Given the description of an element on the screen output the (x, y) to click on. 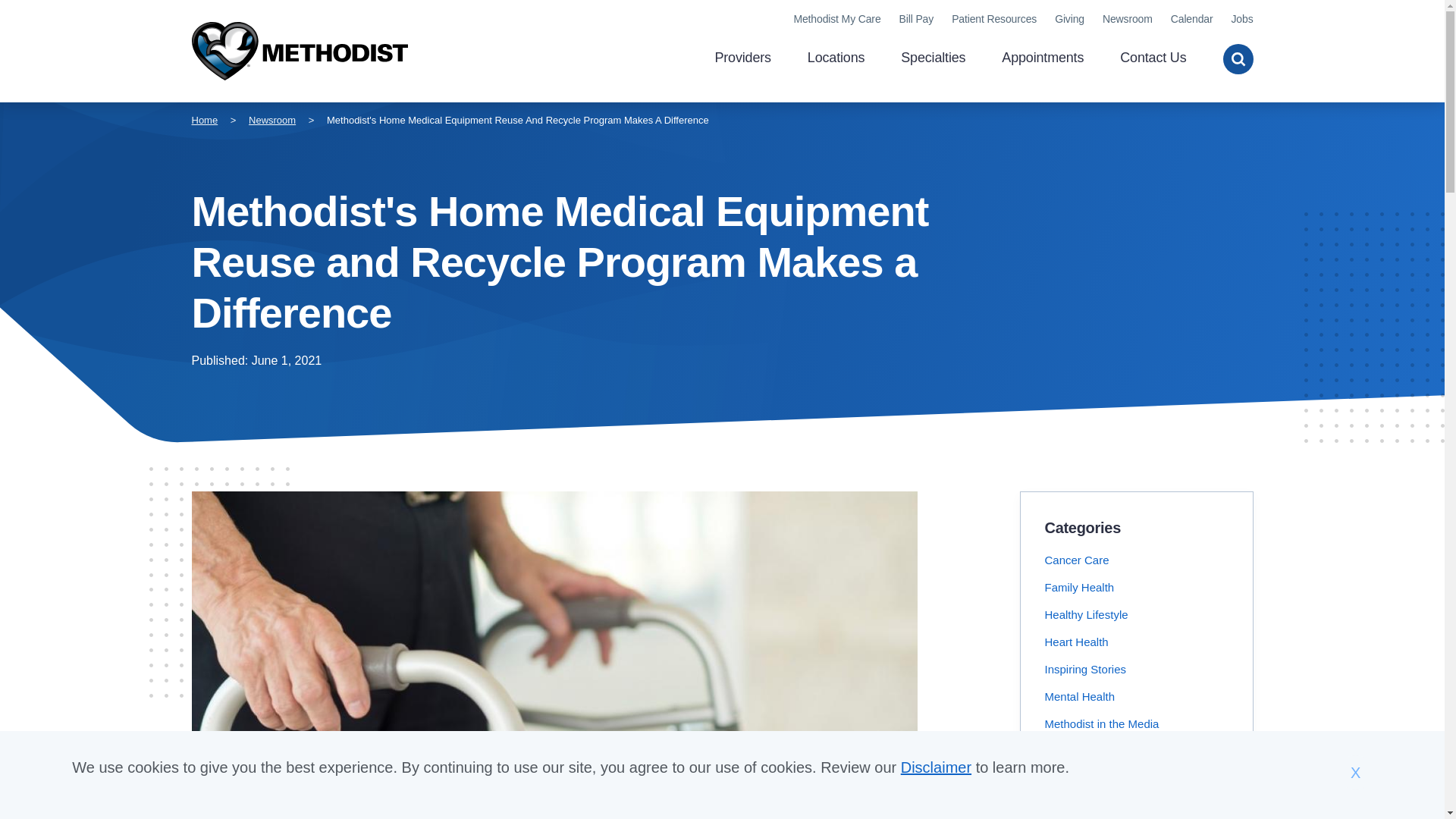
Providers (742, 59)
Home (203, 120)
Home (298, 51)
Bill Pay (916, 19)
Methodist My Care (836, 19)
Newsroom (271, 120)
Healthy Lifestyle (1086, 614)
Appointments (1042, 59)
Patient Resources (994, 19)
Jobs (1241, 19)
Heart Health (1076, 641)
The Meaning of Care Magazine (1124, 805)
Methodist in the Media (1101, 723)
Contact Us (1152, 59)
Toggle Site Search (1237, 59)
